Given the description of an element on the screen output the (x, y) to click on. 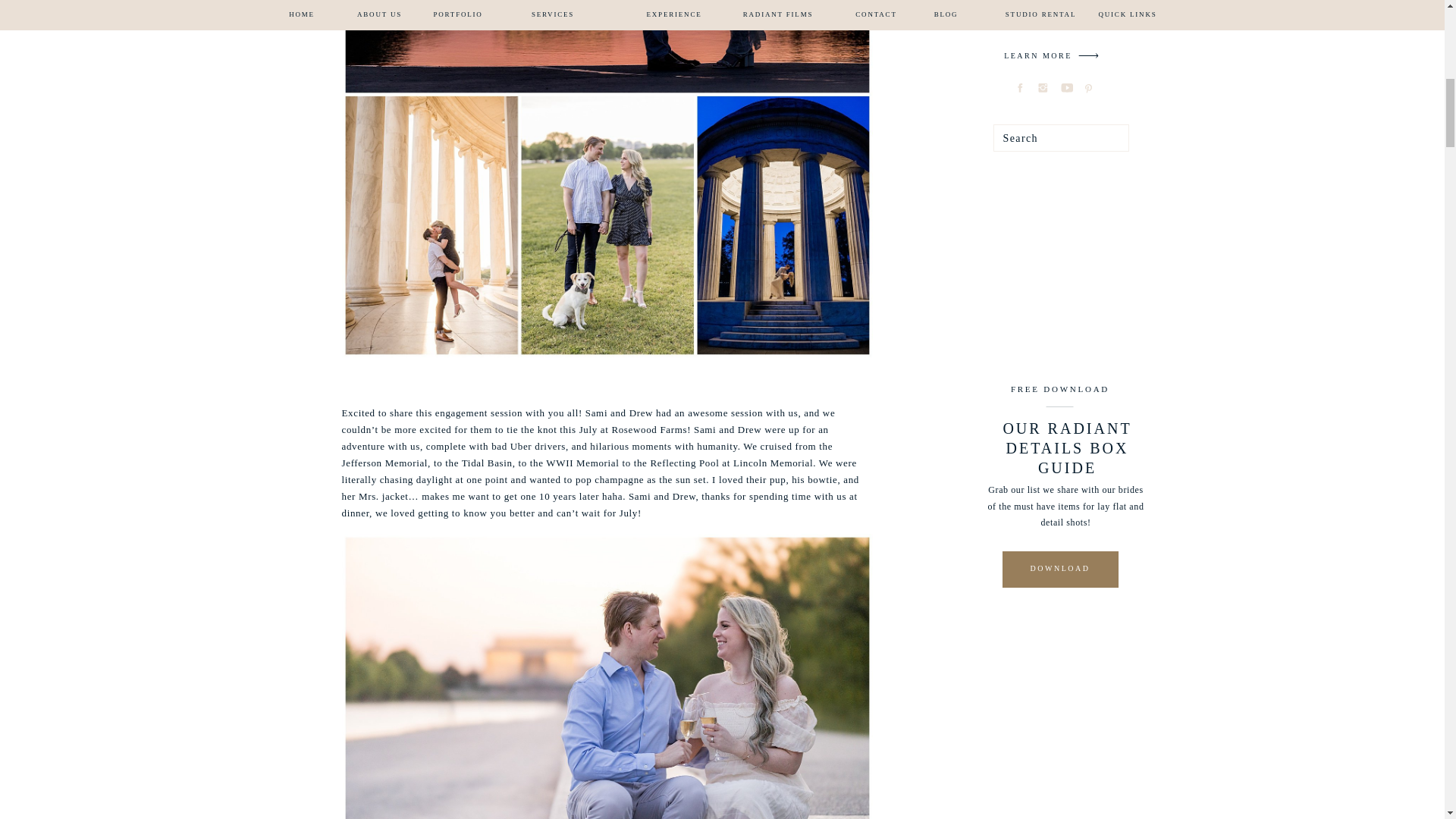
LEARN MORE (1037, 57)
arrow (1088, 55)
arrow (1088, 55)
